Given the description of an element on the screen output the (x, y) to click on. 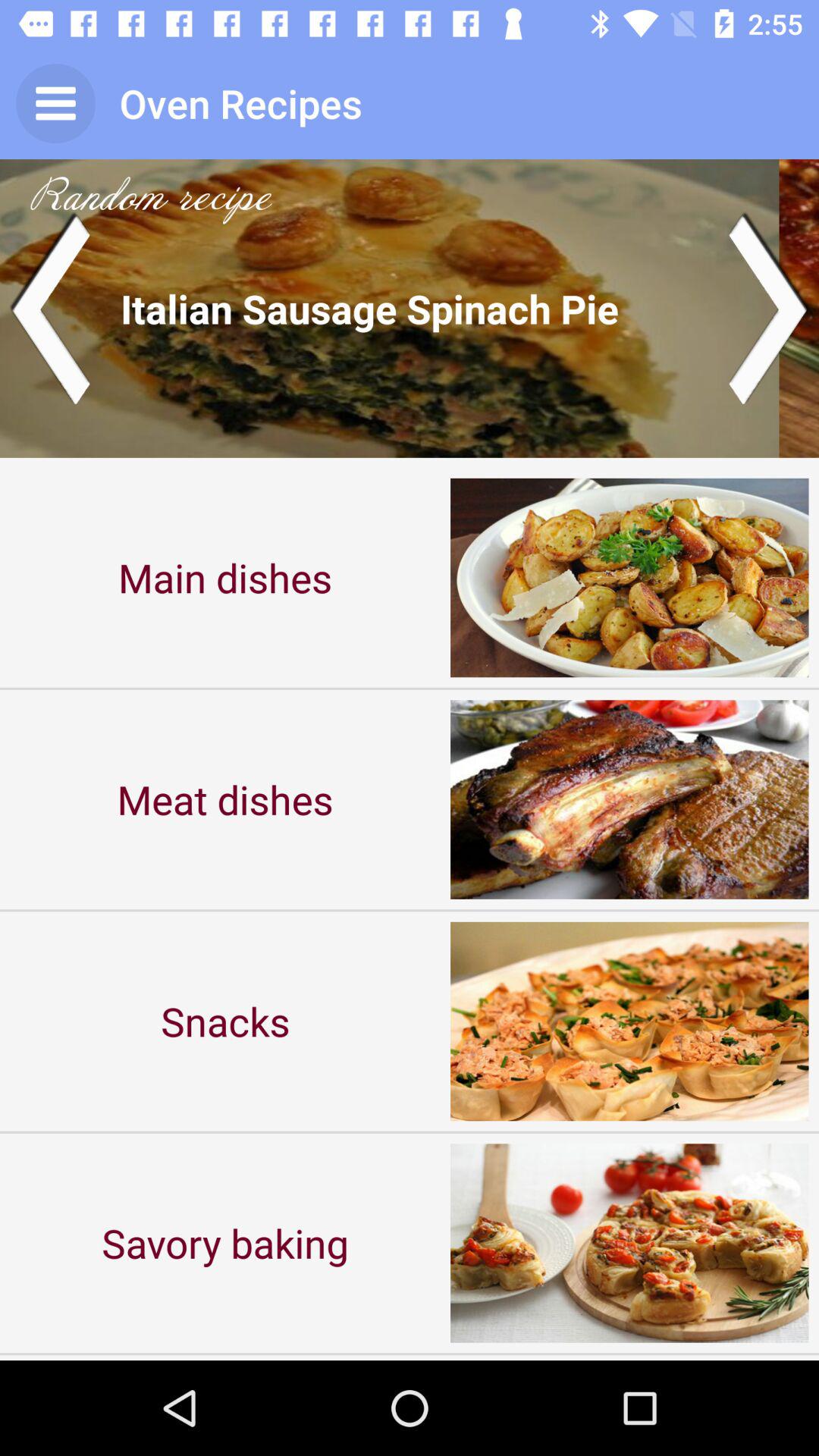
tap savory baking icon (225, 1242)
